Given the description of an element on the screen output the (x, y) to click on. 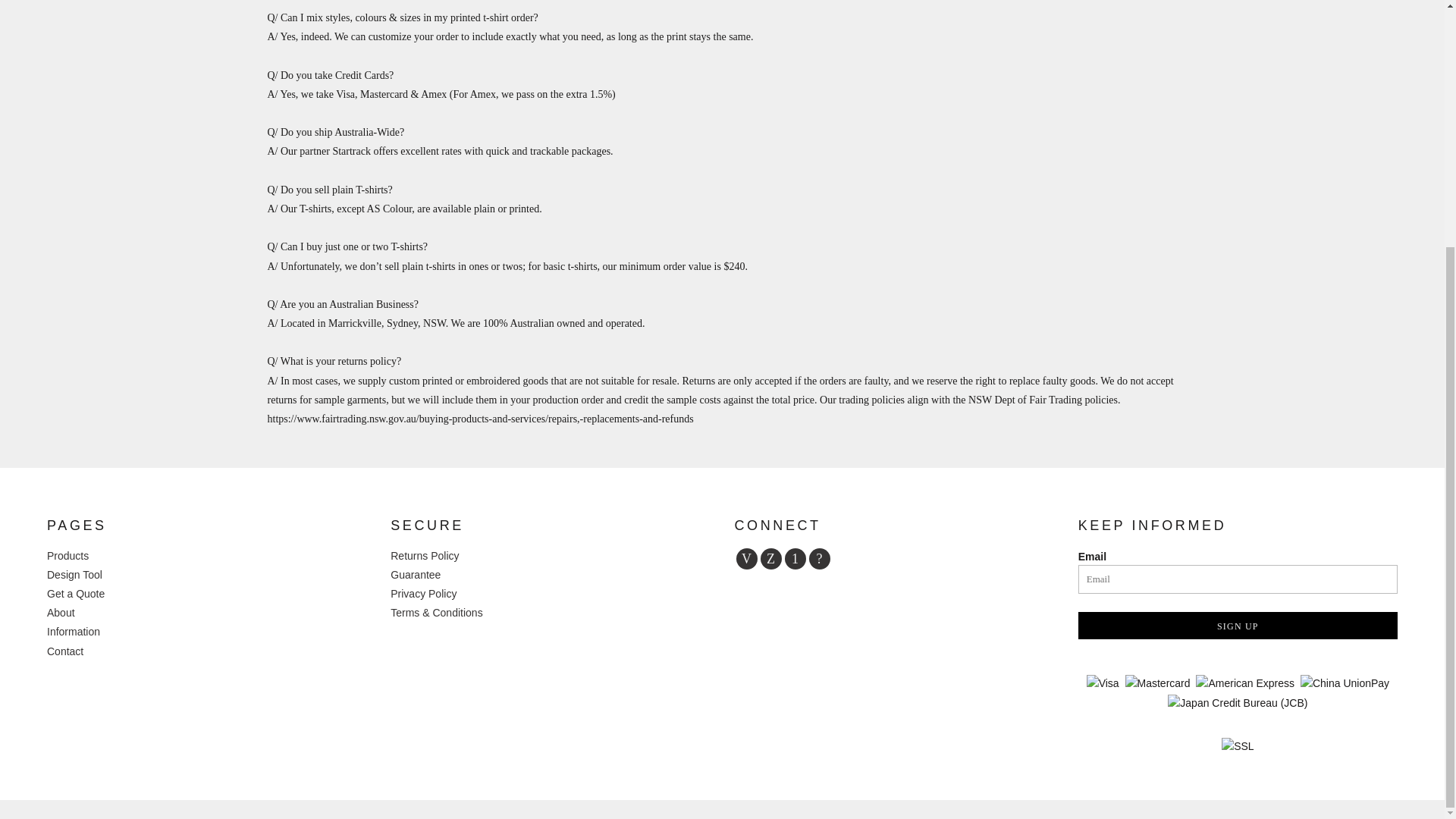
Contact (64, 651)
Design Tool (73, 574)
Privacy Policy (423, 593)
Get a Quote (75, 593)
About (60, 612)
Information (73, 631)
Guarantee (415, 574)
Returns Policy (424, 555)
Products (67, 555)
